Given the description of an element on the screen output the (x, y) to click on. 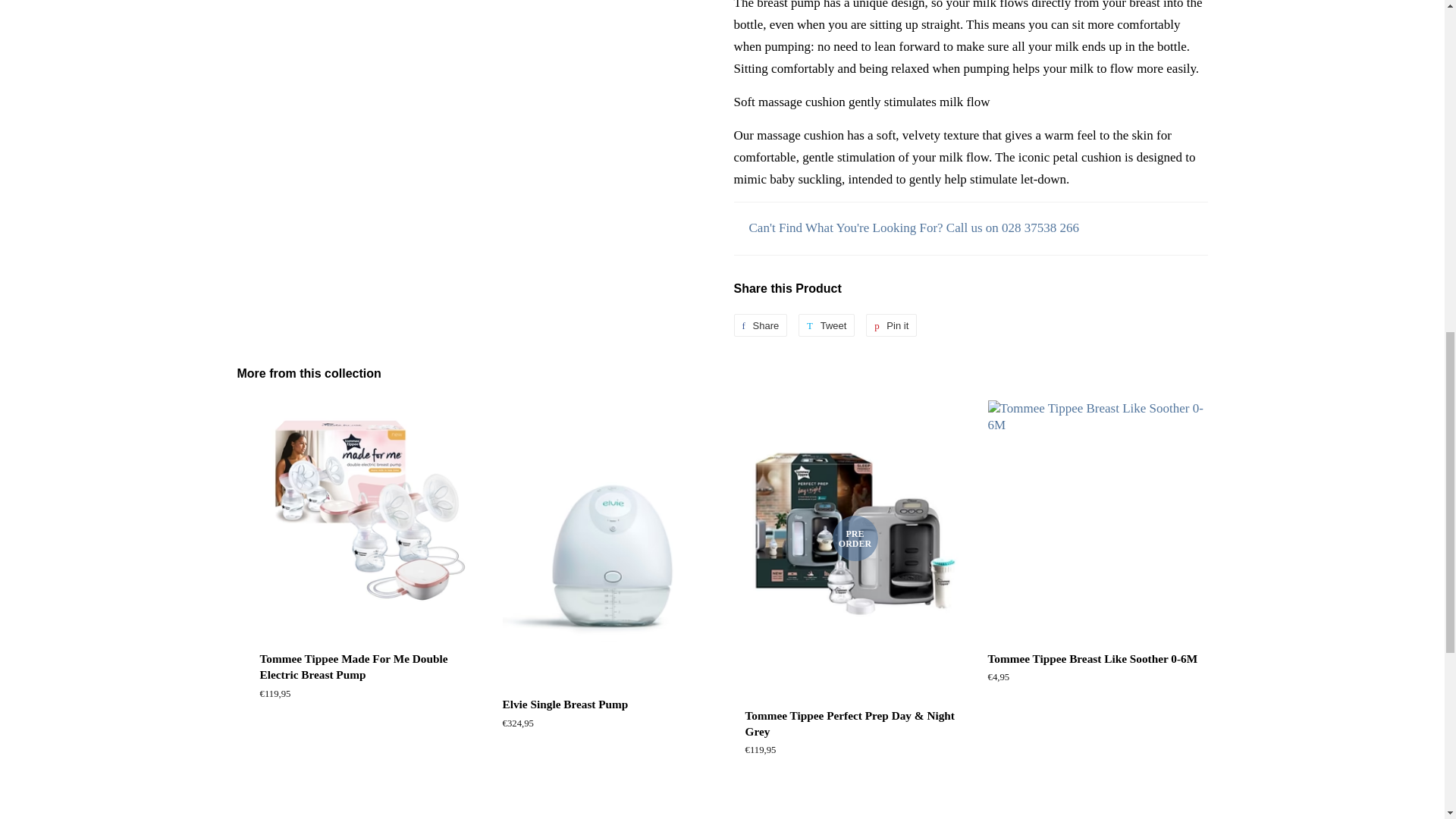
Pin on Pinterest (891, 324)
Tweet on Twitter (825, 324)
Share on Facebook (760, 324)
